Given the description of an element on the screen output the (x, y) to click on. 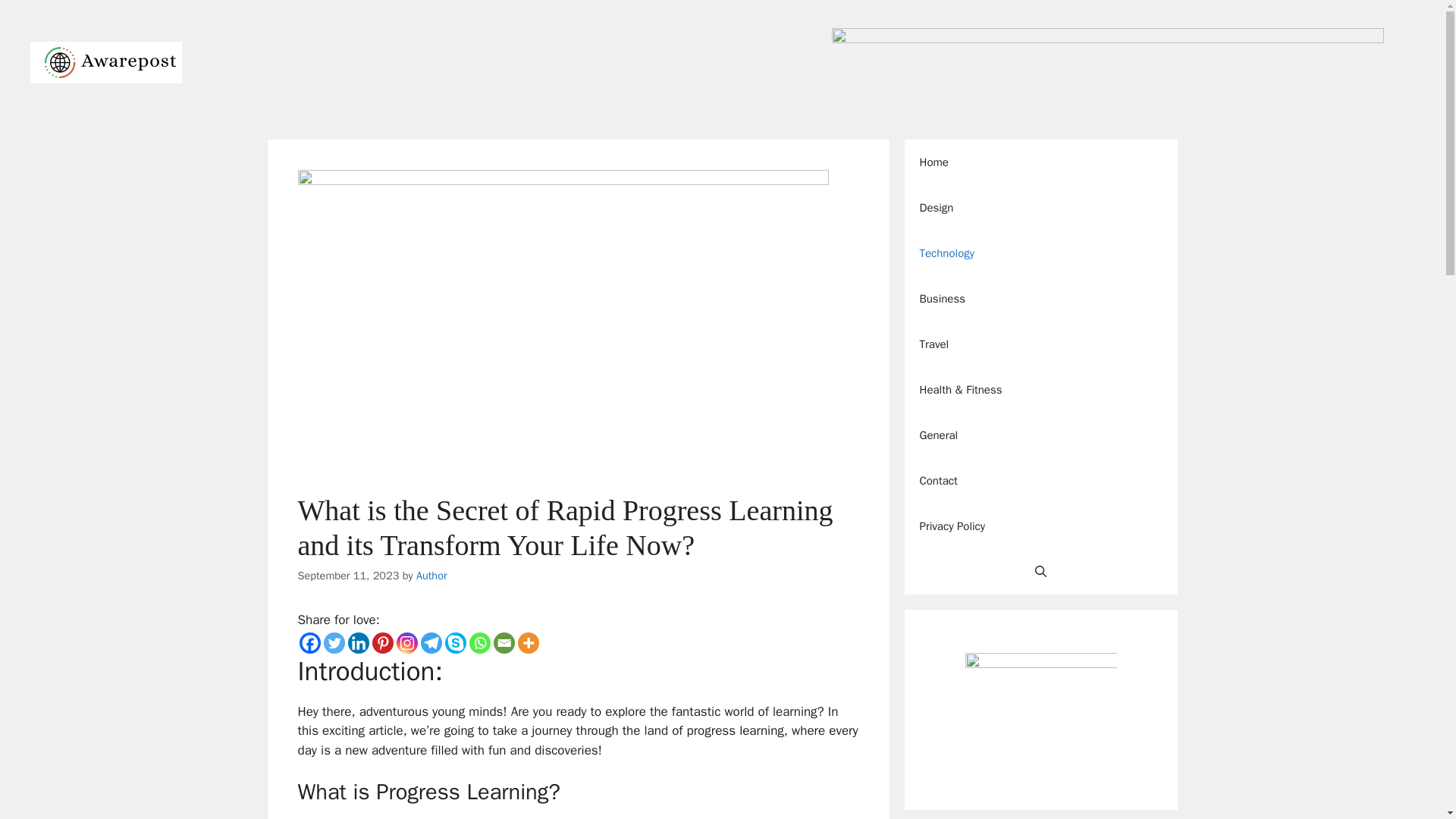
Business (1040, 298)
Linkedin (357, 642)
Travel (1040, 343)
Email (503, 642)
Design (1040, 207)
Instagram (406, 642)
Technology (1040, 253)
Facebook (309, 642)
Skype (454, 642)
Home (1040, 162)
General (1040, 434)
Twitter (333, 642)
View all posts by Author (431, 575)
Author (431, 575)
Privacy Policy (1040, 525)
